Given the description of an element on the screen output the (x, y) to click on. 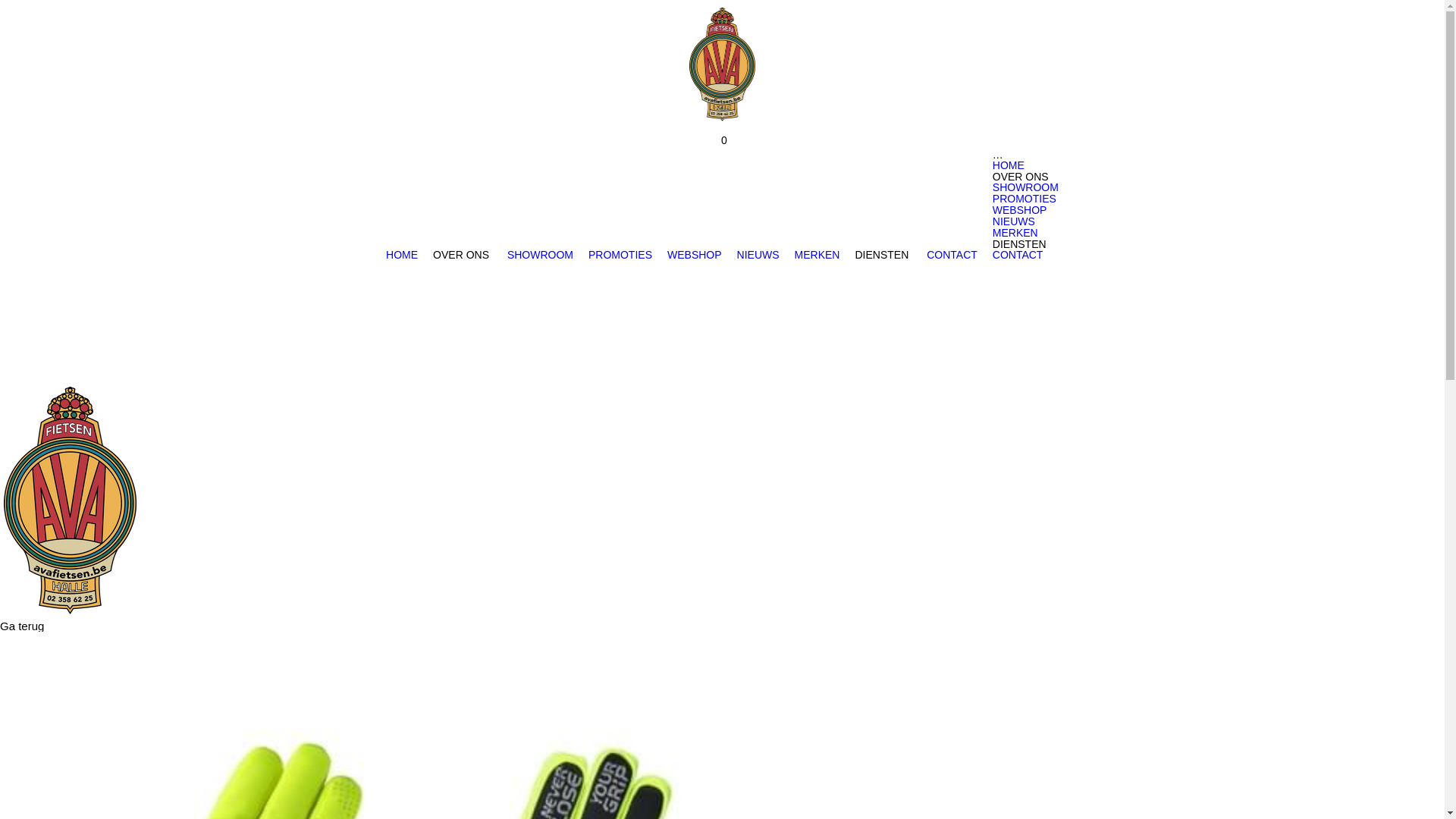
CONTACT Element type: text (1017, 254)
HOME Element type: text (401, 254)
PROMOTIES Element type: text (1024, 198)
NIEUWS Element type: text (1013, 221)
NIEUWS Element type: text (758, 254)
WEBSHOP Element type: text (1019, 210)
MERKEN Element type: text (817, 254)
SHOWROOM Element type: text (1025, 187)
CONTACT Element type: text (951, 254)
PROMOTIES Element type: text (620, 254)
MERKEN Element type: text (1015, 232)
SHOWROOM Element type: text (540, 254)
HOME Element type: text (1008, 165)
WEBSHOP Element type: text (694, 254)
